Given the description of an element on the screen output the (x, y) to click on. 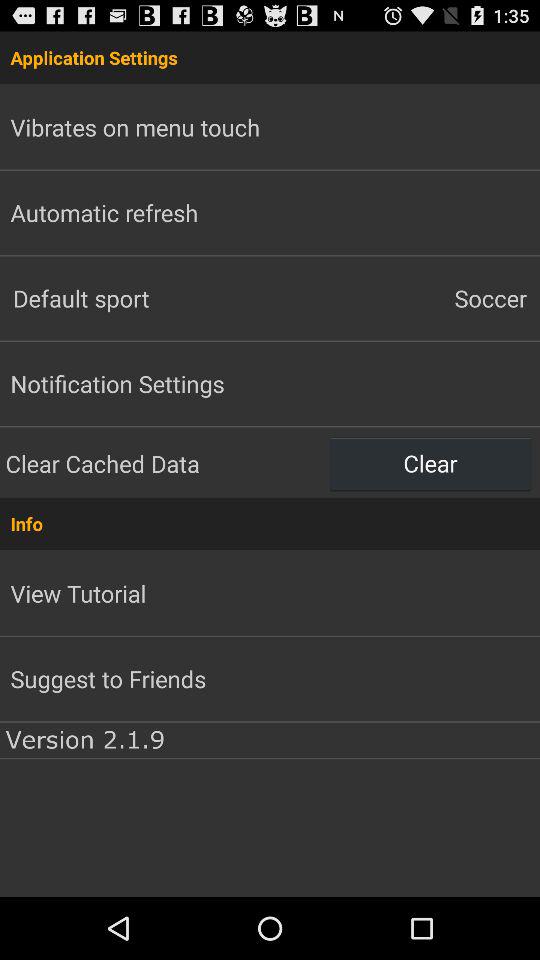
choose the icon below vibrates on menu app (104, 212)
